Given the description of an element on the screen output the (x, y) to click on. 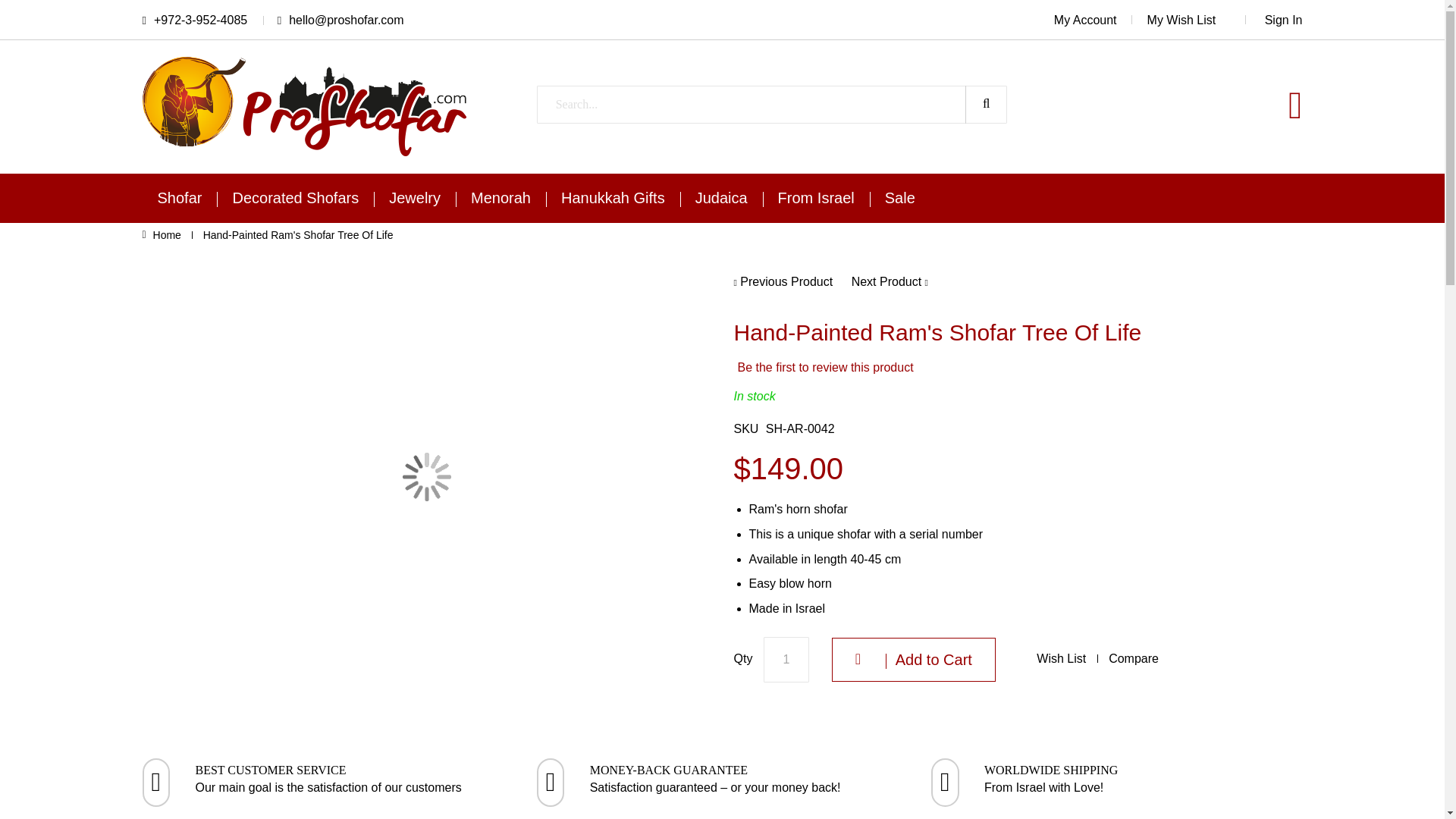
1 (785, 659)
Menorah (500, 197)
Search (986, 104)
My Account (1093, 19)
My Wish List (1196, 19)
Hanukkah Gifts (612, 197)
Decorated Shofars (295, 197)
Decorated Shofars (295, 197)
Search (986, 104)
Jewelry (414, 197)
